Given the description of an element on the screen output the (x, y) to click on. 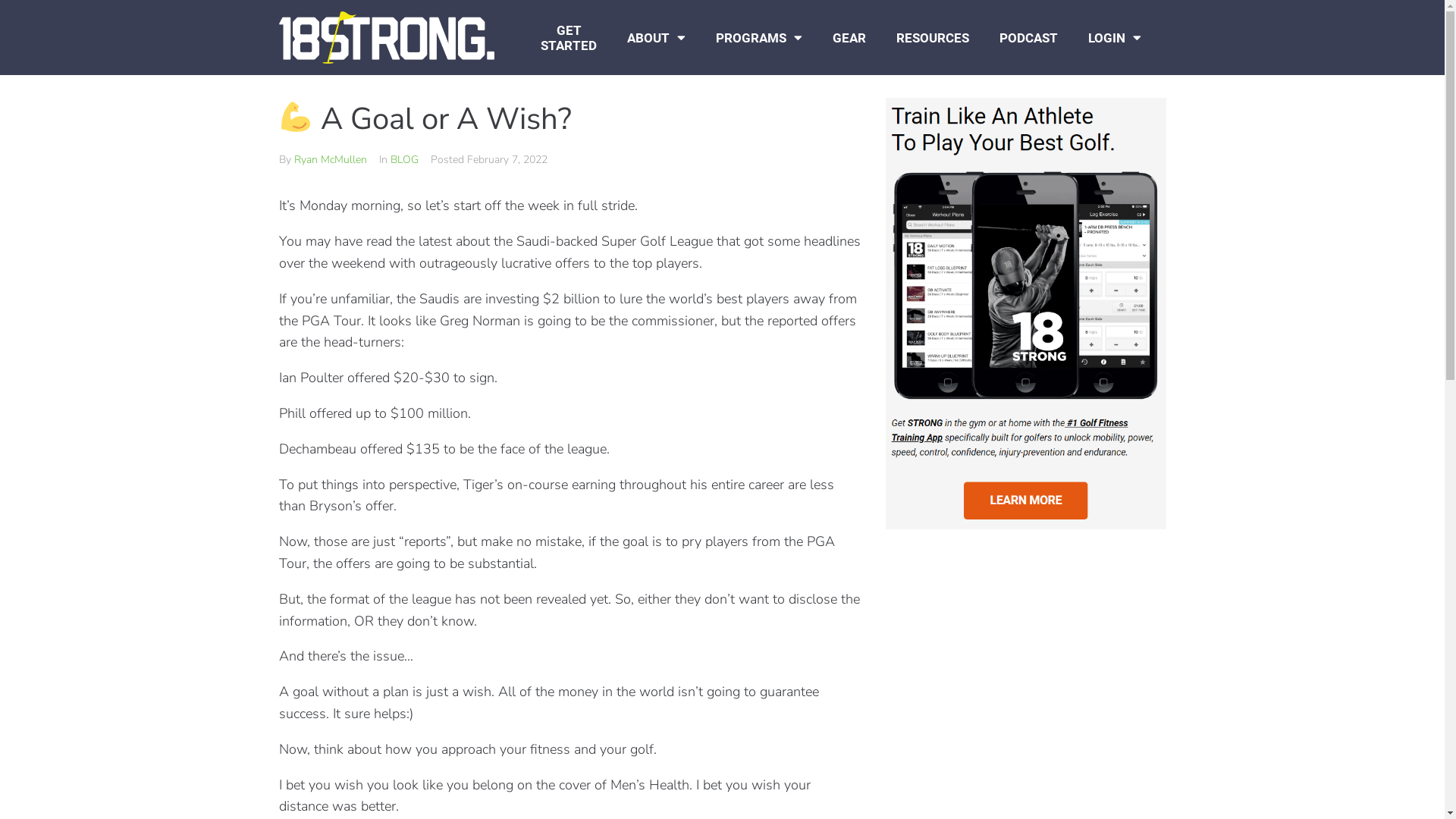
PODCAST Element type: text (1028, 37)
BLOG Element type: text (403, 159)
RESOURCES Element type: text (932, 37)
LOGIN Element type: text (1114, 37)
ABOUT Element type: text (655, 37)
Ryan McMullen Element type: text (330, 159)
GEAR Element type: text (849, 37)
GET
STARTED Element type: text (568, 37)
PROGRAMS Element type: text (758, 37)
